Given the description of an element on the screen output the (x, y) to click on. 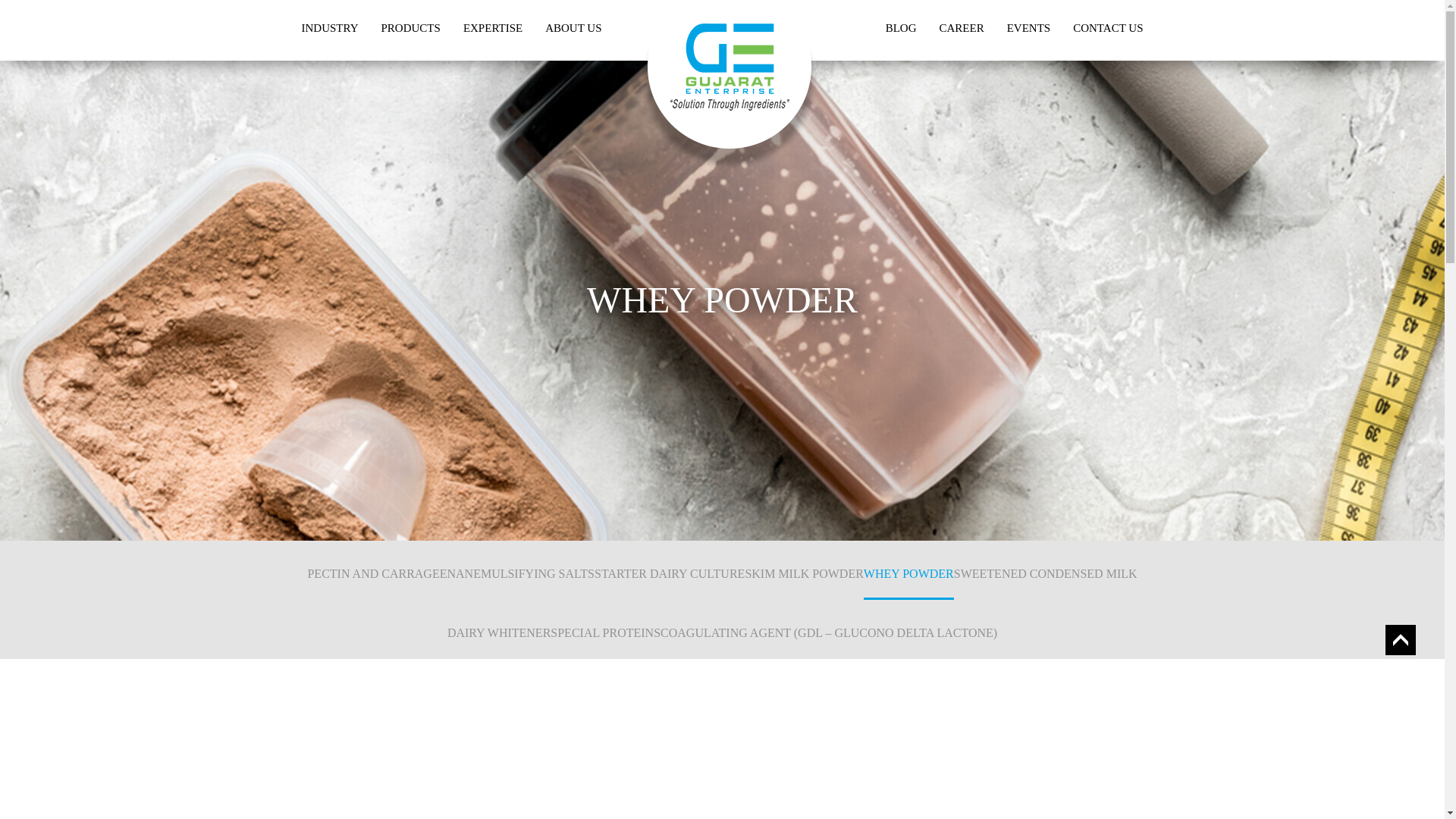
PRODUCTS (410, 28)
WHEY POWDER (908, 569)
SWEETENED CONDENSED MILK (1045, 569)
STARTER DAIRY CULTURE (669, 569)
EMULSIFYING SALTS (533, 569)
ABOUT US (573, 28)
SPECIAL PROTEINS (605, 629)
CAREER (961, 28)
PECTIN AND CARRAGEENAN (390, 569)
SKIM MILK POWDER (803, 569)
